Given the description of an element on the screen output the (x, y) to click on. 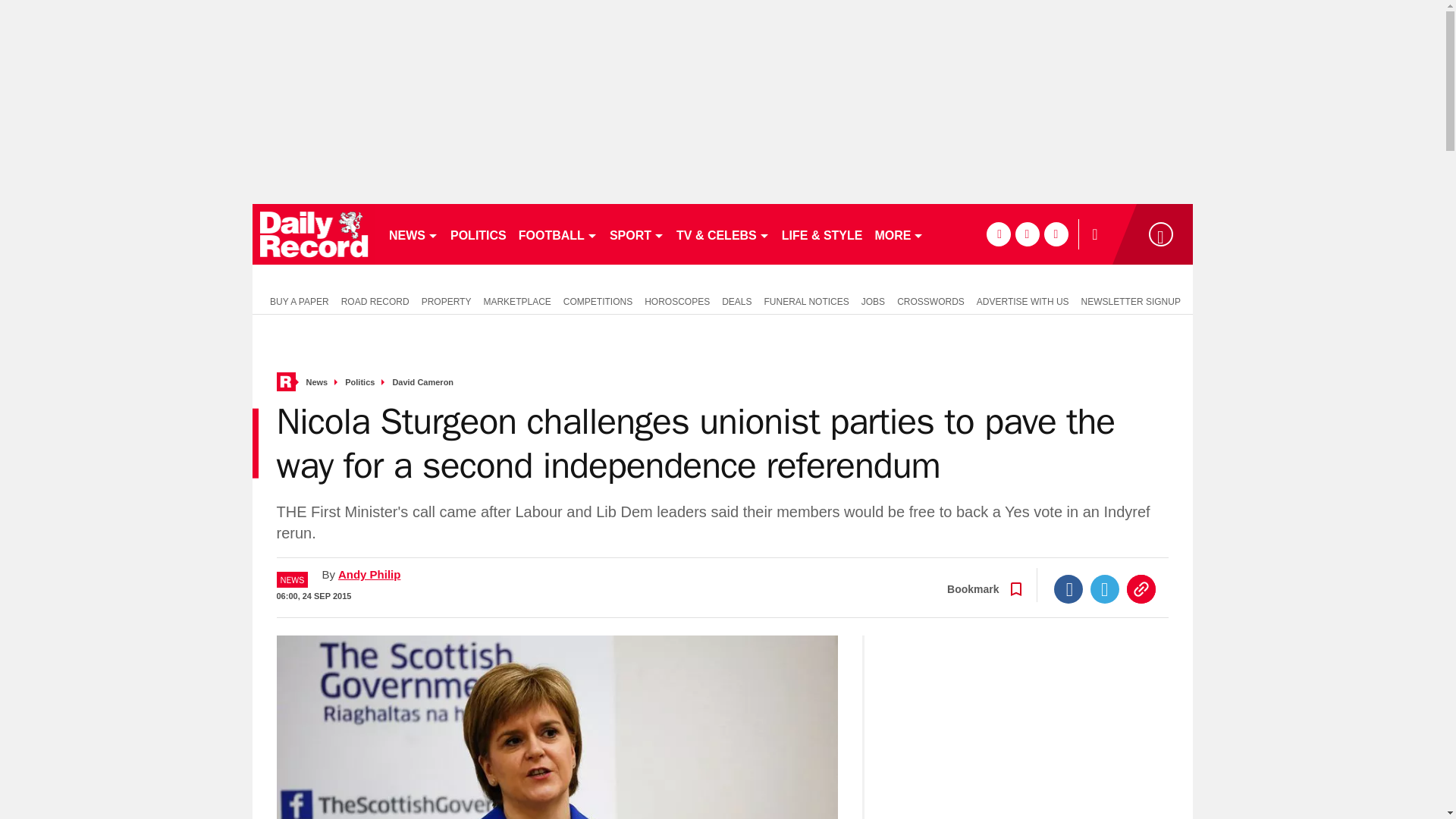
instagram (1055, 233)
Twitter (1104, 588)
SPORT (636, 233)
twitter (1026, 233)
NEWS (413, 233)
dailyrecord (313, 233)
POLITICS (478, 233)
facebook (997, 233)
Facebook (1068, 588)
FOOTBALL (558, 233)
